Given the description of an element on the screen output the (x, y) to click on. 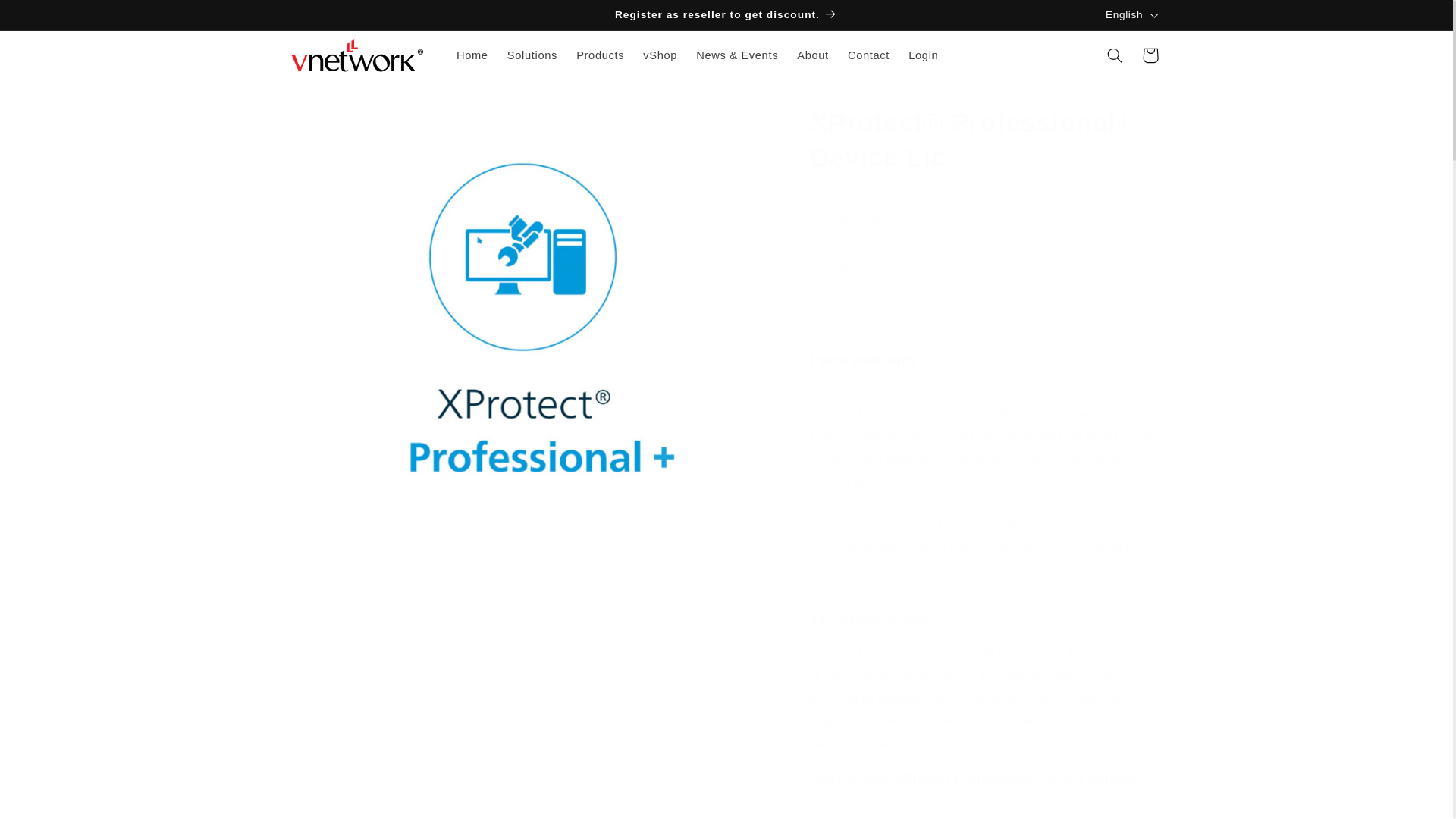
Register as reseller to get discount. (726, 15)
English (1129, 15)
1 (863, 297)
Skip to content (48, 18)
